Given the description of an element on the screen output the (x, y) to click on. 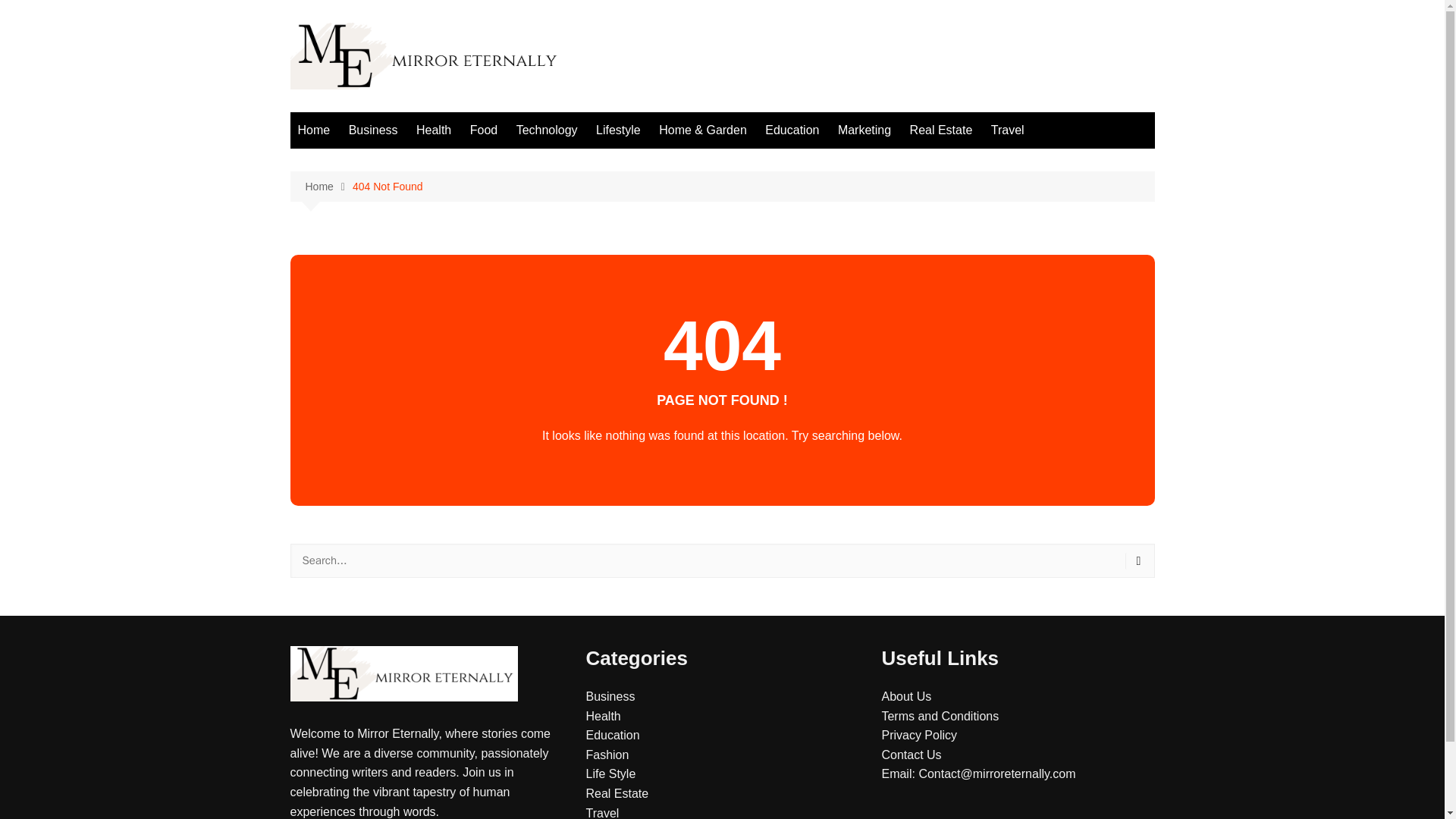
Health (602, 716)
Education (612, 735)
Lifestyle (617, 130)
Life Style (609, 773)
Home (313, 130)
Health (433, 130)
Contact Us (910, 754)
404 Not Found (387, 186)
Business (609, 696)
Real Estate (940, 130)
